Given the description of an element on the screen output the (x, y) to click on. 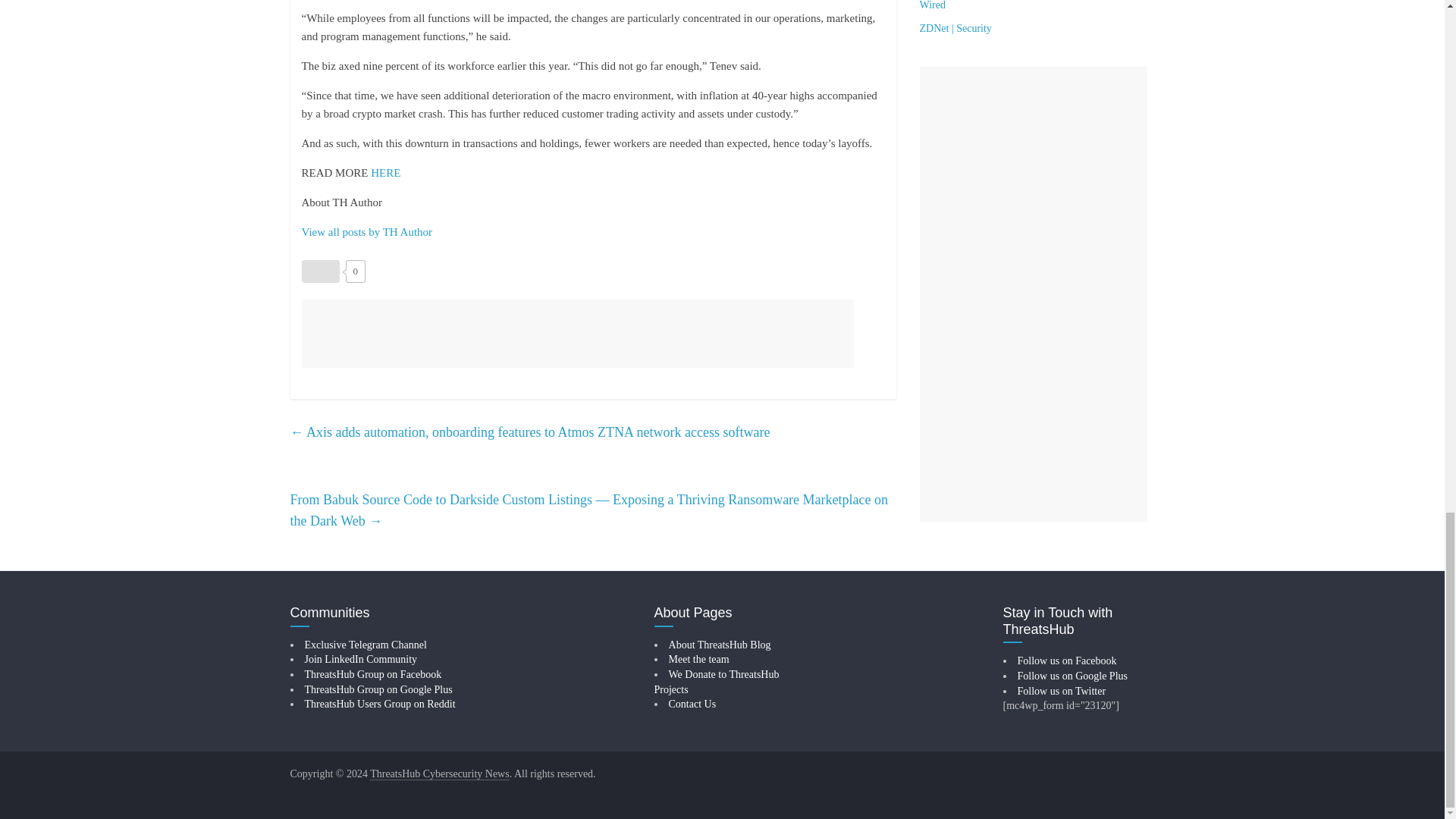
A community for ThreatsHub Professionals (360, 659)
Join our exclusive Google Plus community (378, 688)
HERE (385, 173)
View all posts by TH Author (366, 232)
